Given the description of an element on the screen output the (x, y) to click on. 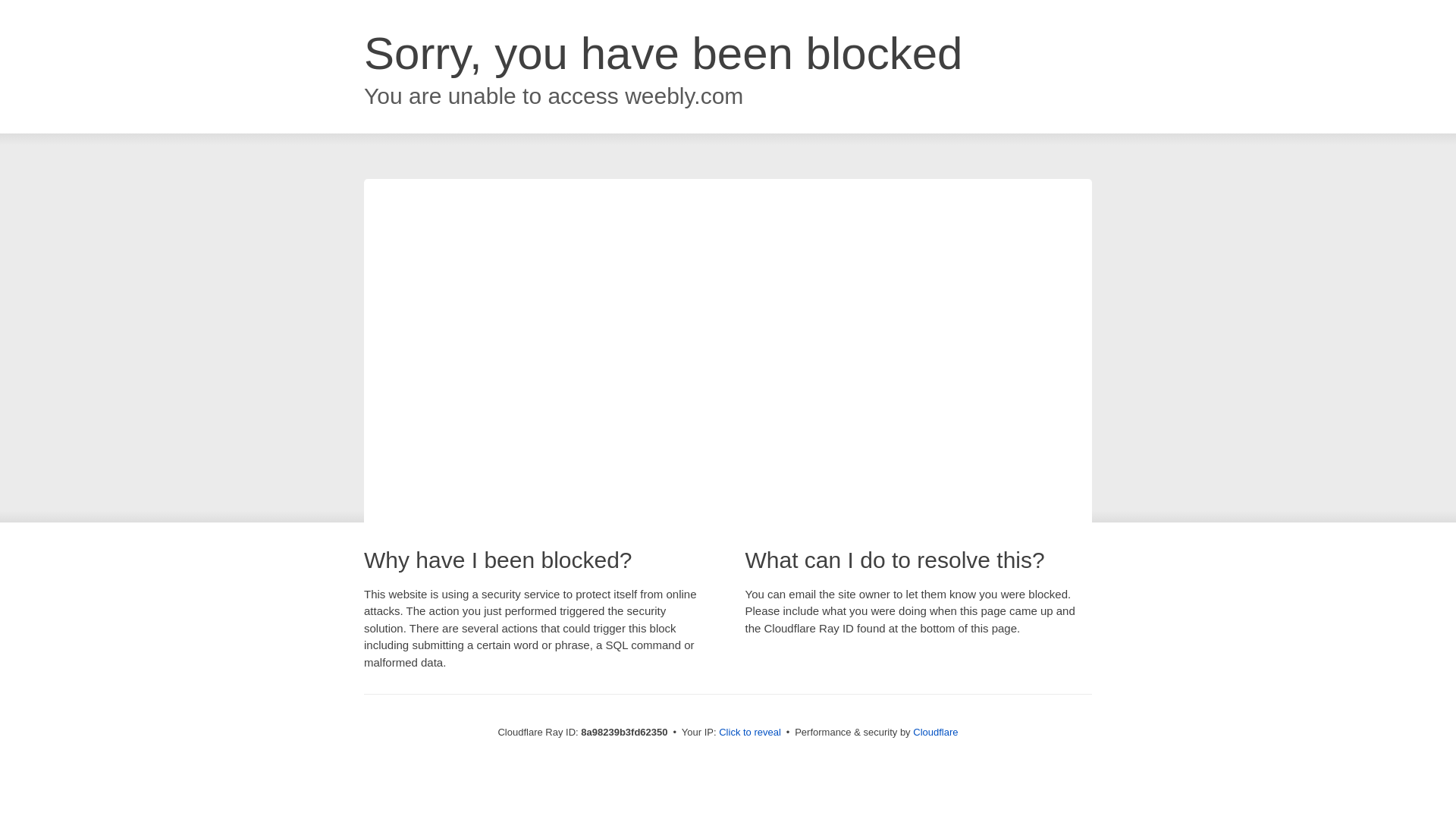
Click to reveal (749, 732)
Cloudflare (935, 731)
